Given the description of an element on the screen output the (x, y) to click on. 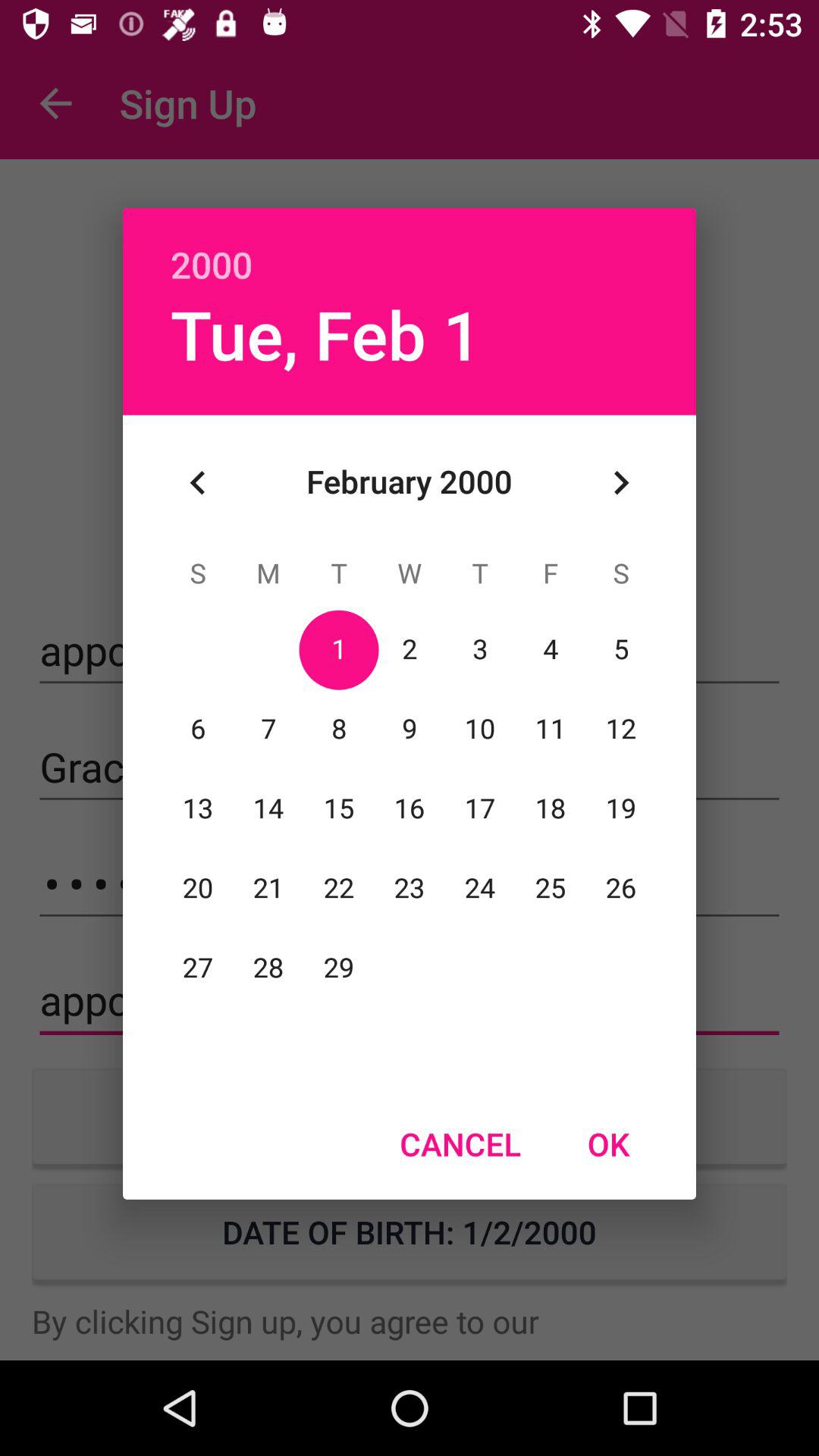
jump to the ok item (608, 1143)
